Given the description of an element on the screen output the (x, y) to click on. 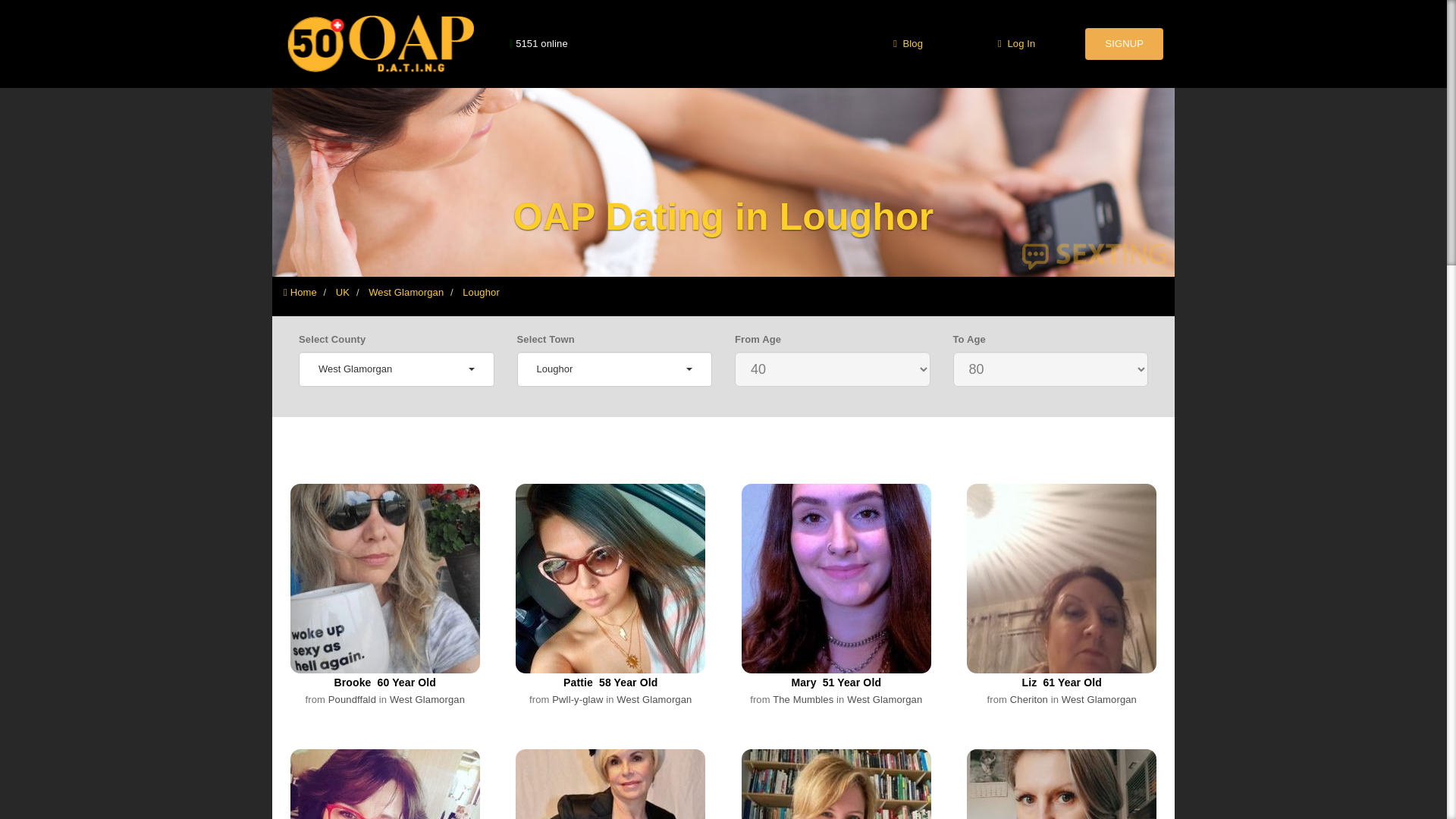
  Log In (1013, 43)
granny sex dating in Loughor (481, 292)
SIGNUP (1123, 43)
  Blog (904, 43)
granny sex dating in west glamorgan (406, 292)
UK (342, 292)
 Home (300, 292)
Loughor (481, 292)
West Glamorgan (406, 292)
West Glamorgan (396, 369)
